Given the description of an element on the screen output the (x, y) to click on. 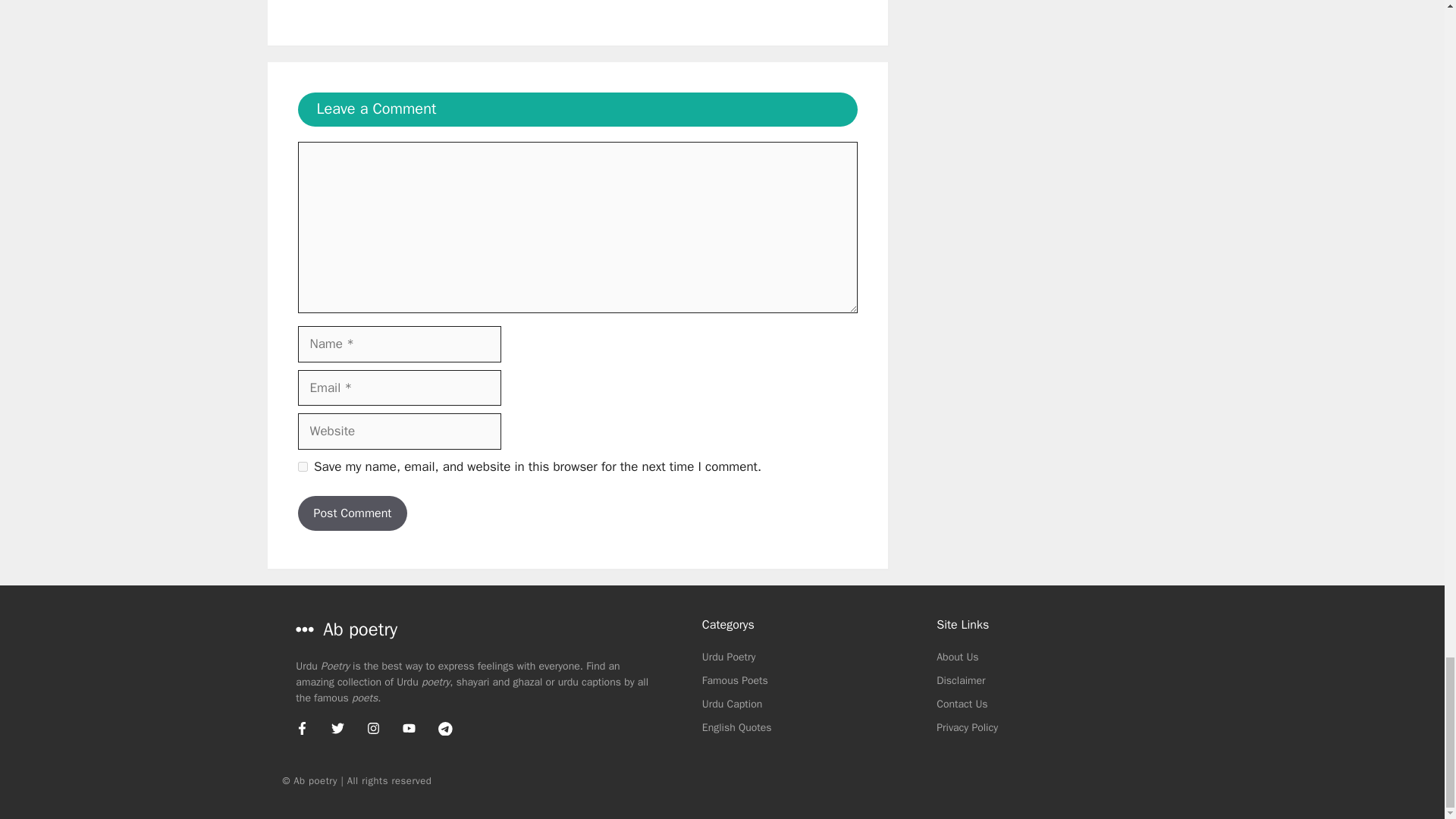
Post Comment (352, 513)
yes (302, 466)
